Given the description of an element on the screen output the (x, y) to click on. 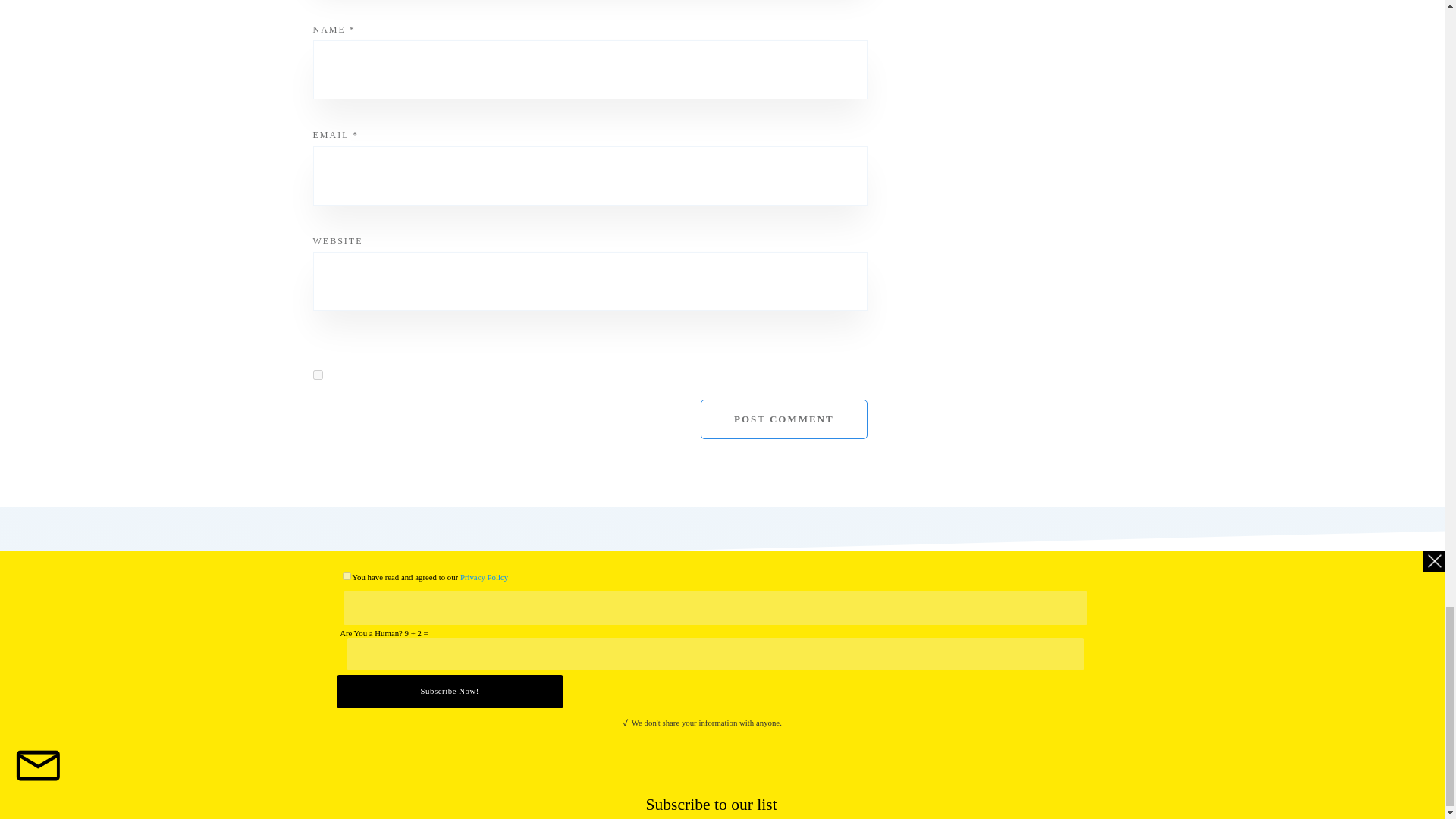
yes (317, 375)
